Given the description of an element on the screen output the (x, y) to click on. 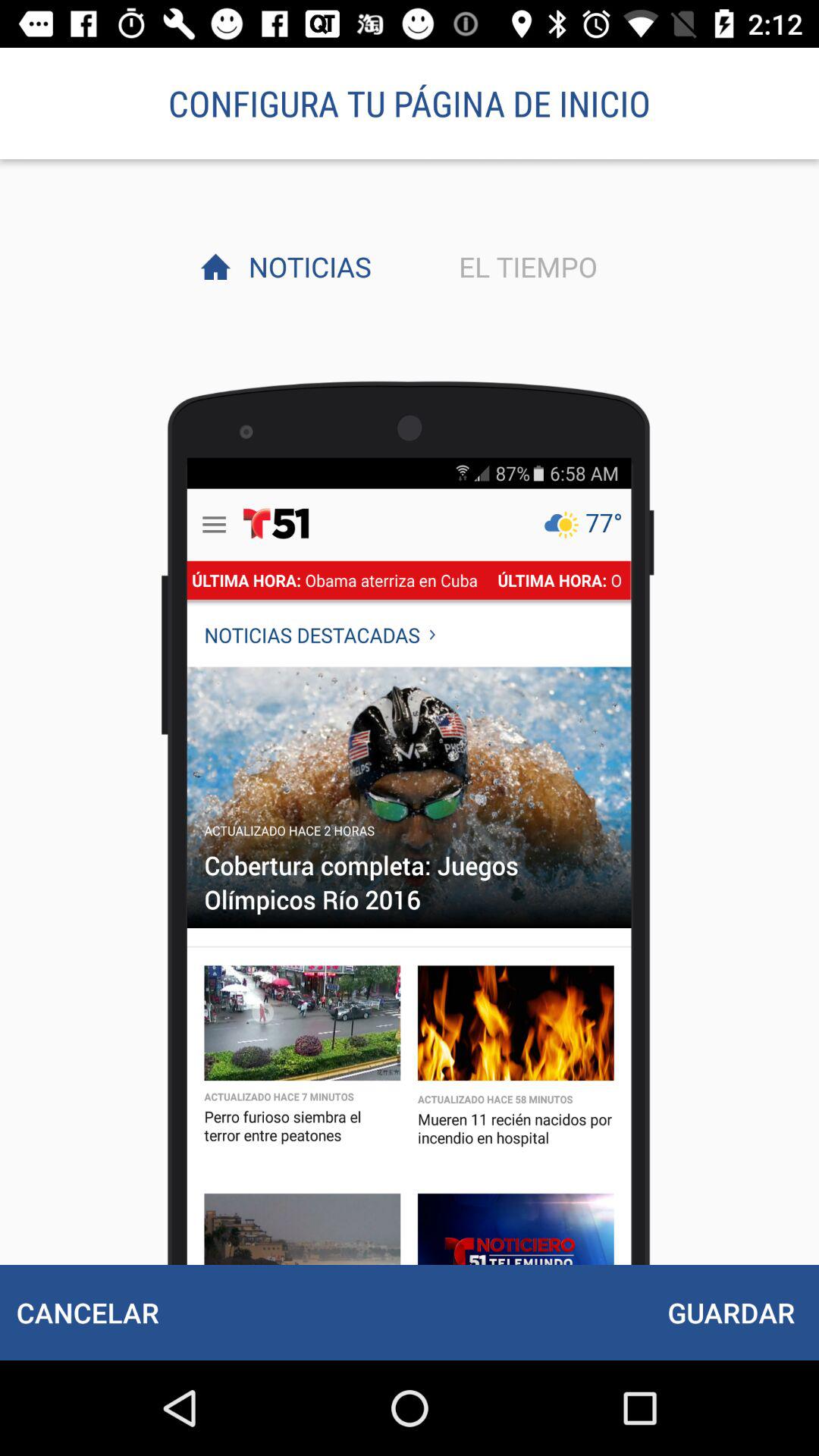
select icon next to cancelar item (731, 1312)
